Given the description of an element on the screen output the (x, y) to click on. 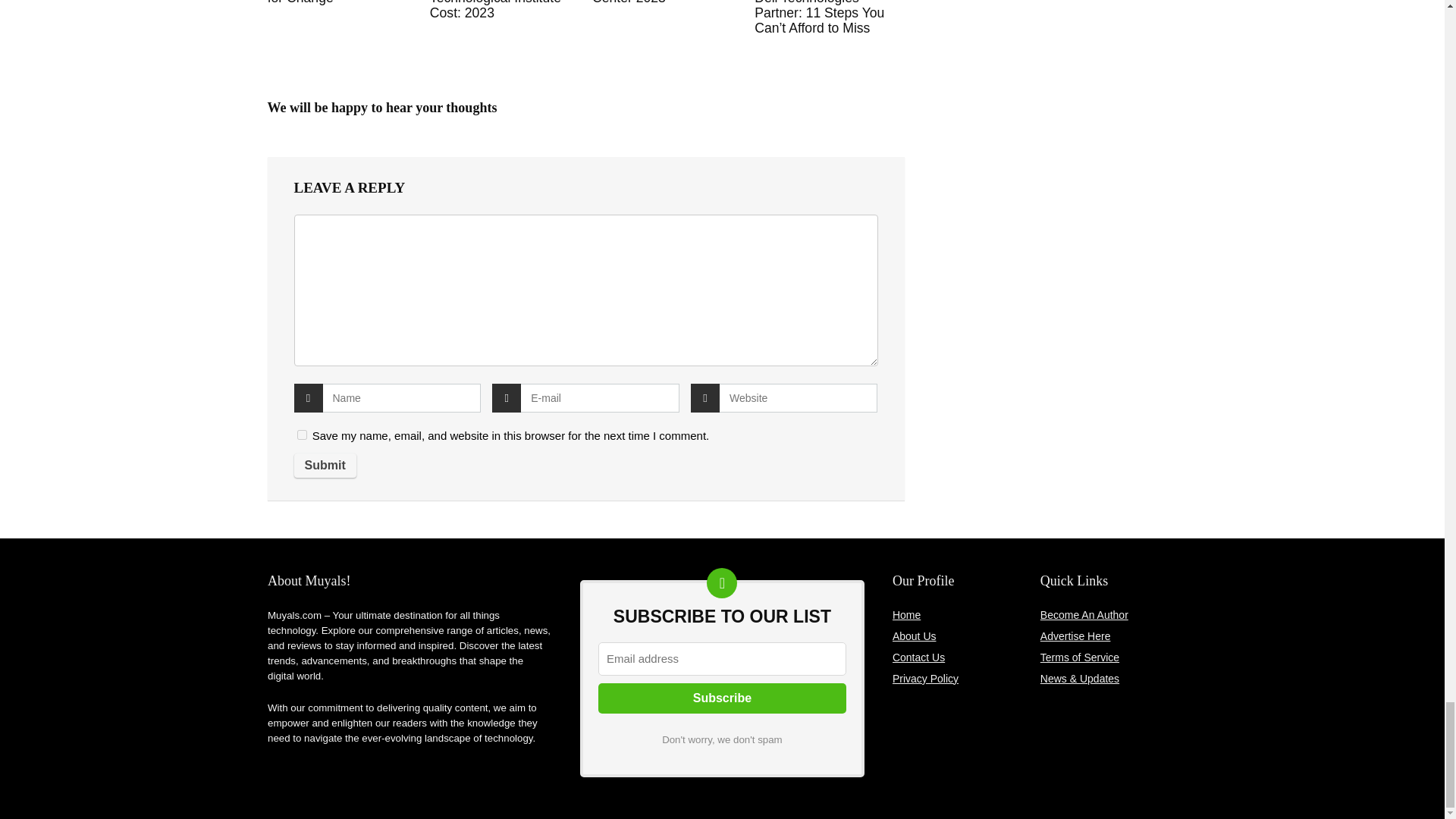
Subscribe (721, 698)
Best Guide to Berks Career and Technology Center 2023 (661, 2)
Top Guide to Northwestern Technological Institute Cost: 2023 (494, 10)
Columbus Technology Solutions 2023: Catalyst for Change (339, 2)
Submit (325, 465)
yes (302, 434)
Submit (325, 465)
